Given the description of an element on the screen output the (x, y) to click on. 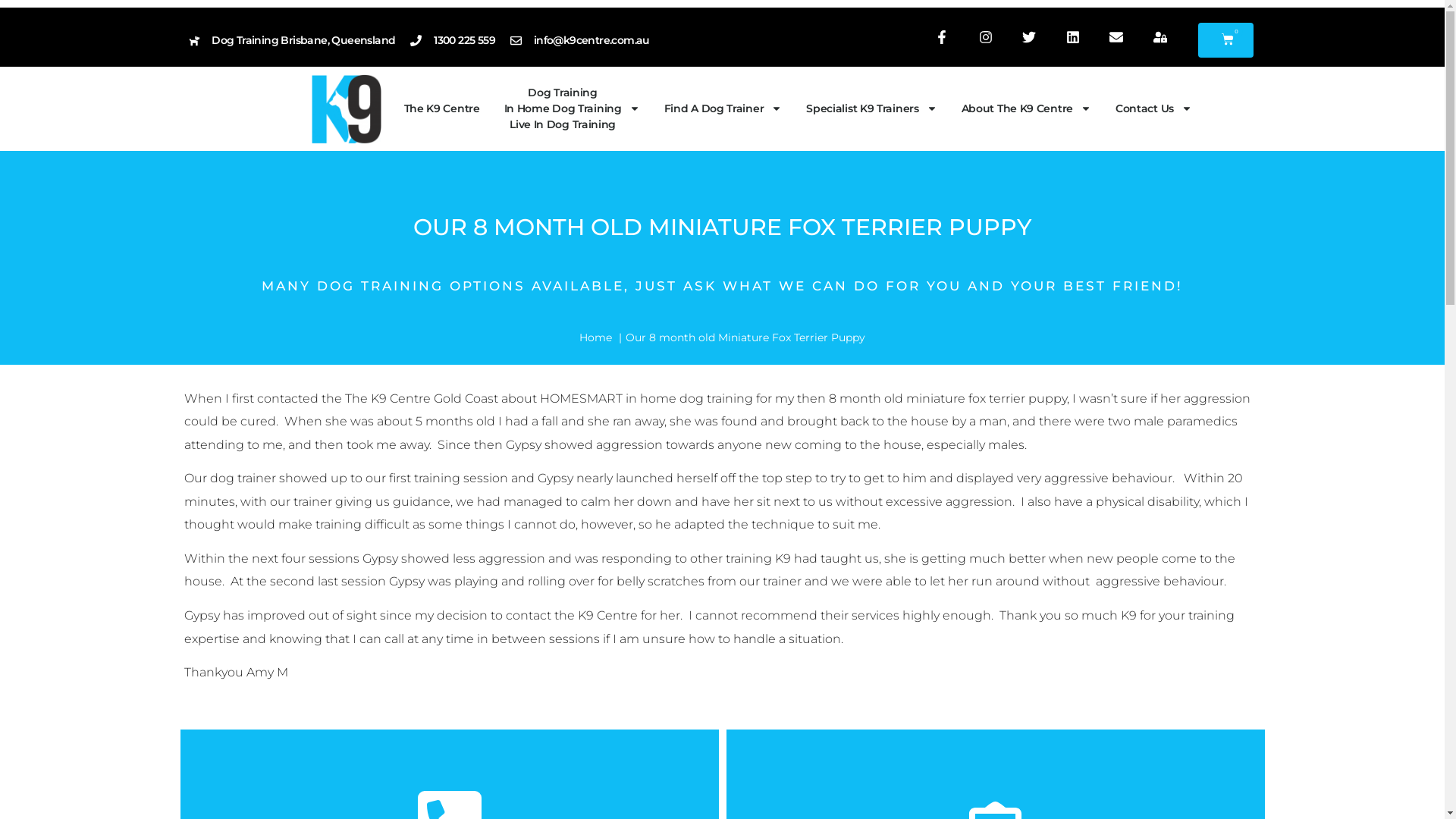
Home Element type: text (595, 337)
About The K9 Centre Element type: text (1026, 108)
Dog Training Brisbane, Queensland Element type: text (291, 40)
info@k9centre.com.au Element type: text (579, 40)
Find A Dog Trainer Element type: text (723, 108)
The K9 Centre Your Dog Trainers Queensland Australia Element type: hover (345, 108)
The K9 Centre Element type: text (441, 108)
1300 225 559 Element type: text (452, 40)
0 Element type: text (1225, 39)
Specialist K9 Trainers Element type: text (870, 108)
Dog Training
In Home Dog Training
Live In Dog Training Element type: text (572, 108)
Contact Us Element type: text (1153, 108)
